Given the description of an element on the screen output the (x, y) to click on. 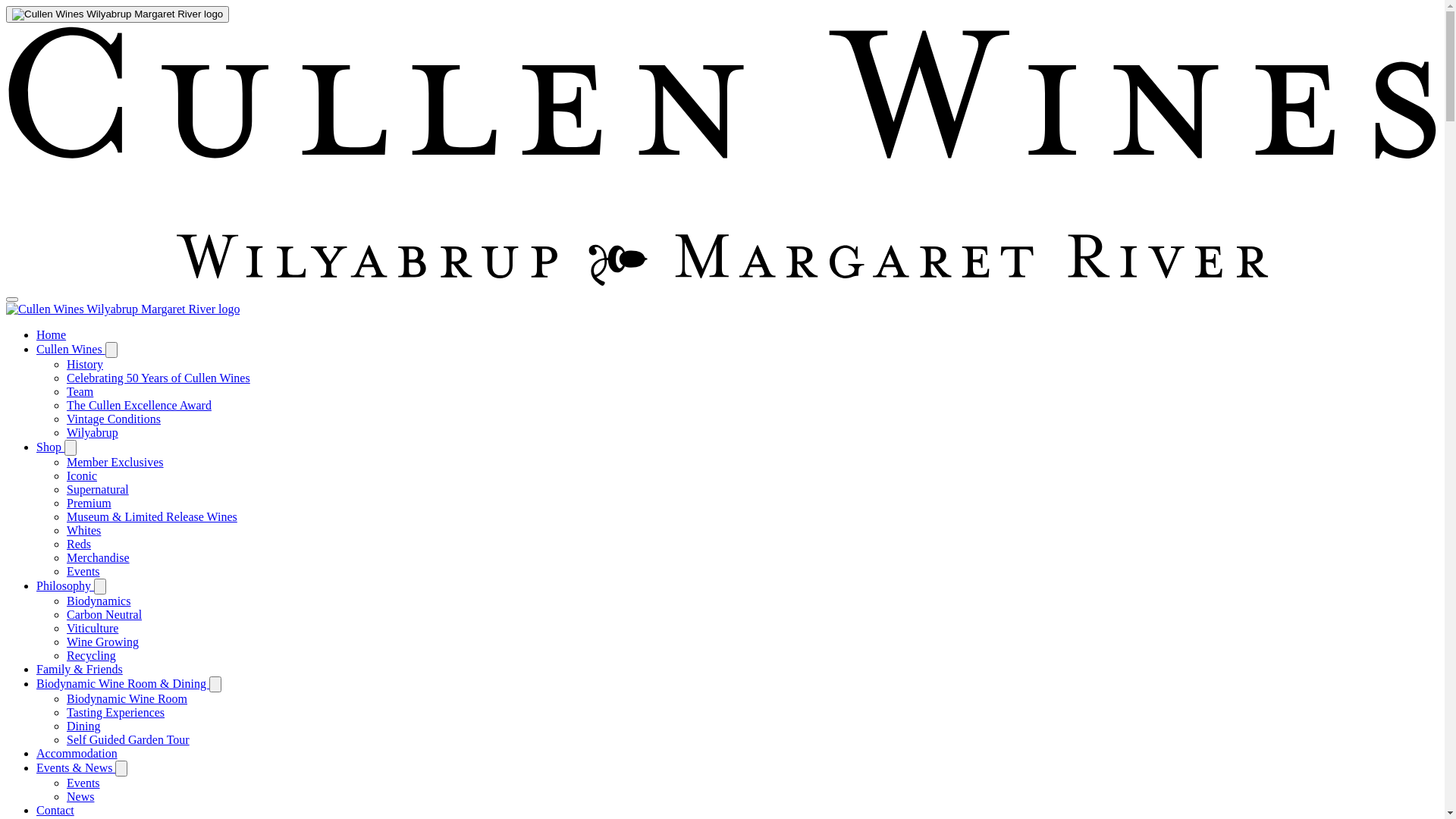
Wilyabrup Element type: text (92, 432)
Events Element type: text (83, 782)
Merchandise Element type: text (97, 557)
Celebrating 50 Years of Cullen Wines Element type: text (158, 377)
Philosophy Element type: text (65, 585)
Biodynamics Element type: text (98, 600)
History Element type: text (84, 363)
Shop Element type: text (50, 446)
Self Guided Garden Tour Element type: text (127, 739)
Biodynamic Wine Room Element type: text (126, 698)
Home Element type: text (50, 334)
Museum & Limited Release Wines Element type: text (151, 516)
Cullen Wines Element type: text (70, 348)
Viticulture Element type: text (92, 627)
Wine Growing Element type: text (102, 641)
Vintage Conditions Element type: text (113, 418)
Reds Element type: text (78, 543)
Cullen Wines Home Page Element type: hover (122, 308)
Iconic Element type: text (81, 475)
Recycling Element type: text (91, 655)
Family & Friends Element type: text (79, 668)
Tasting Experiences Element type: text (115, 712)
Team Element type: text (79, 391)
Premium Element type: text (88, 502)
Carbon Neutral Element type: text (103, 614)
The Cullen Excellence Award Element type: text (138, 404)
Contact Element type: text (55, 809)
Cullen Wines Home Page Element type: hover (117, 14)
Supernatural Element type: text (97, 489)
Dining Element type: text (83, 725)
Whites Element type: text (83, 530)
Accommodation Element type: text (76, 752)
Biodynamic Wine Room & Dining Element type: text (122, 683)
Events & News Element type: text (75, 767)
News Element type: text (80, 796)
Events Element type: text (83, 570)
Member Exclusives Element type: text (114, 461)
